Given the description of an element on the screen output the (x, y) to click on. 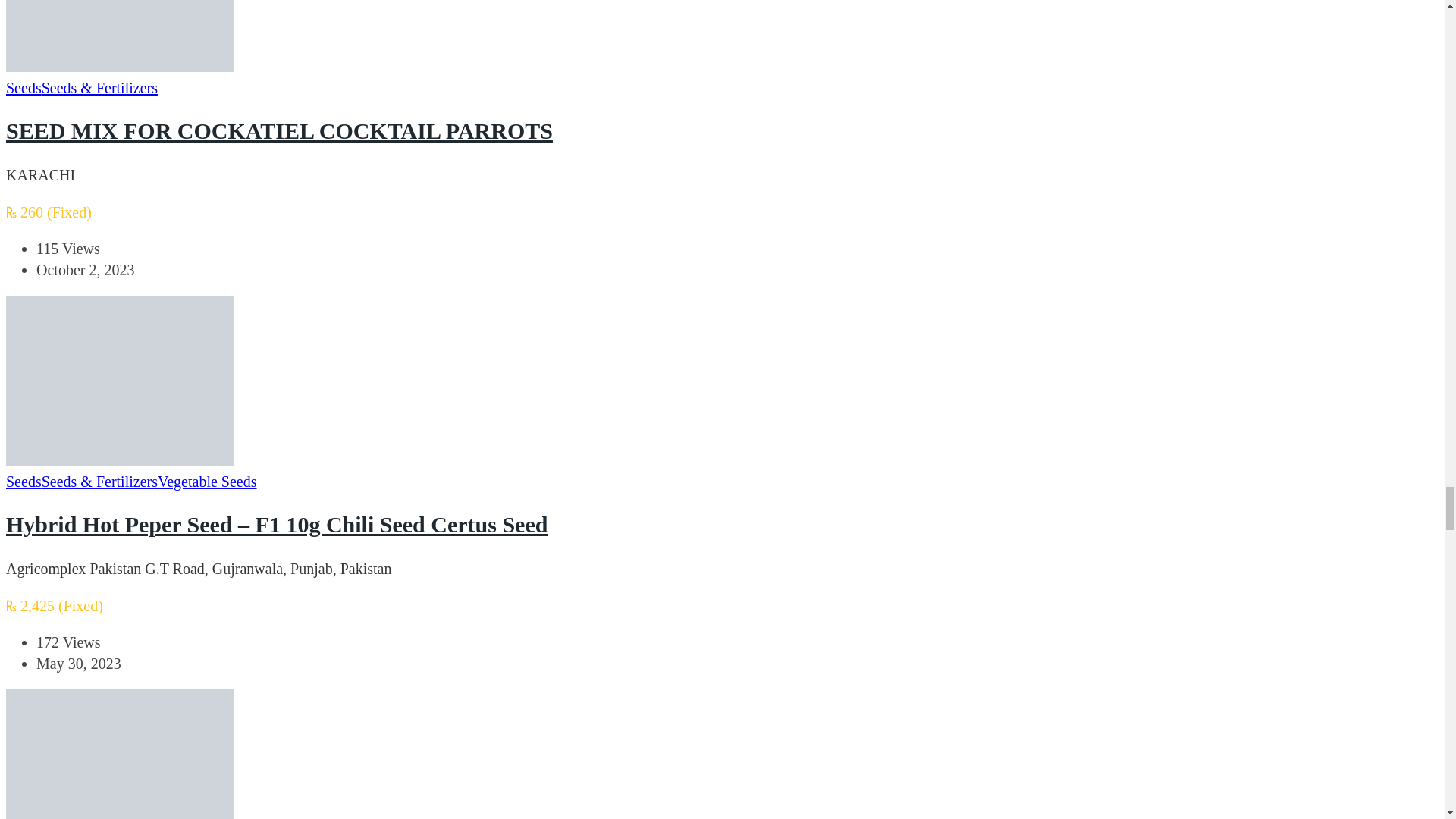
SEED MIX FOR COCKATIEL COCKTAIL PARROTS (279, 130)
